Given the description of an element on the screen output the (x, y) to click on. 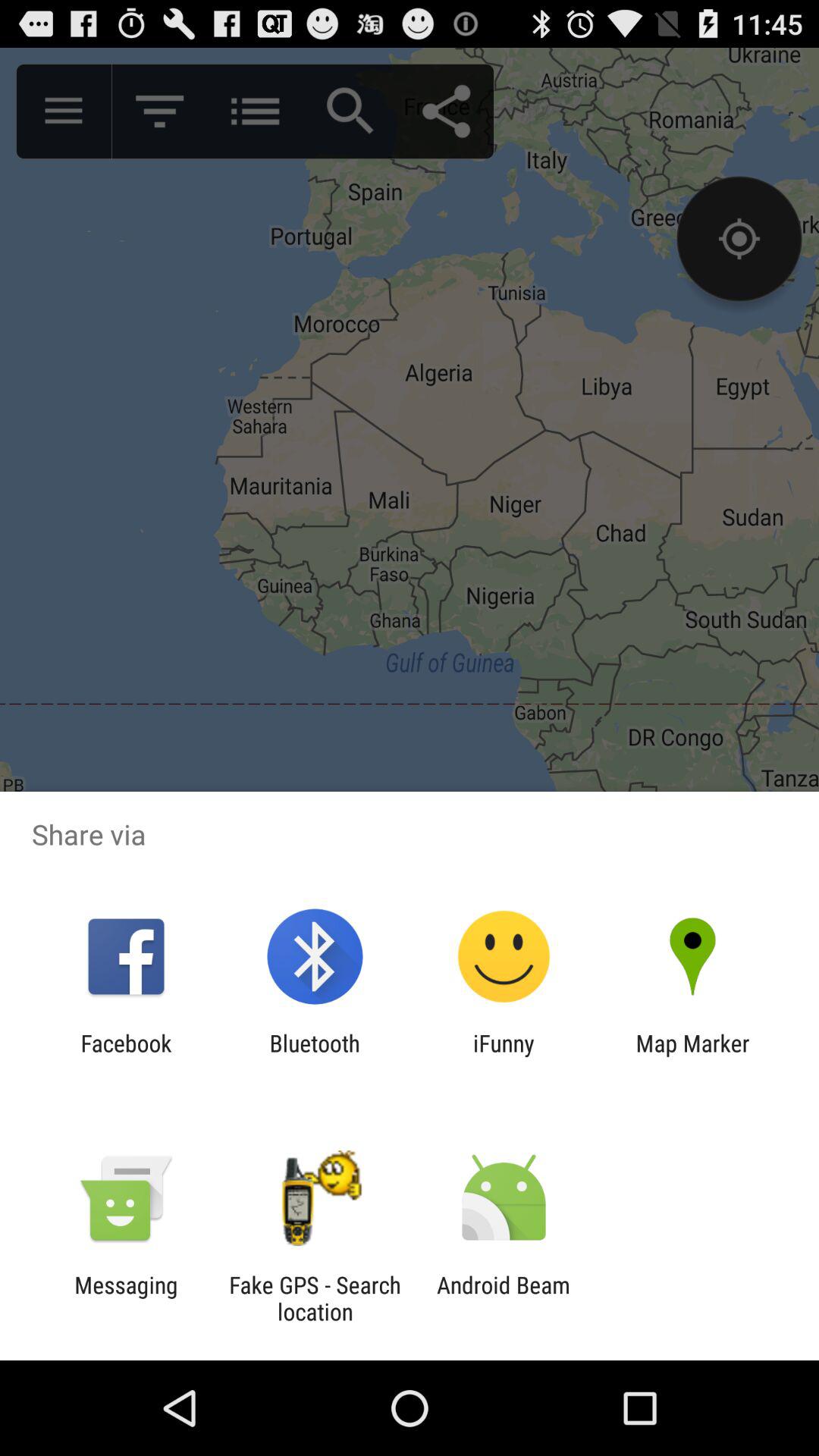
flip to the android beam (503, 1298)
